Given the description of an element on the screen output the (x, y) to click on. 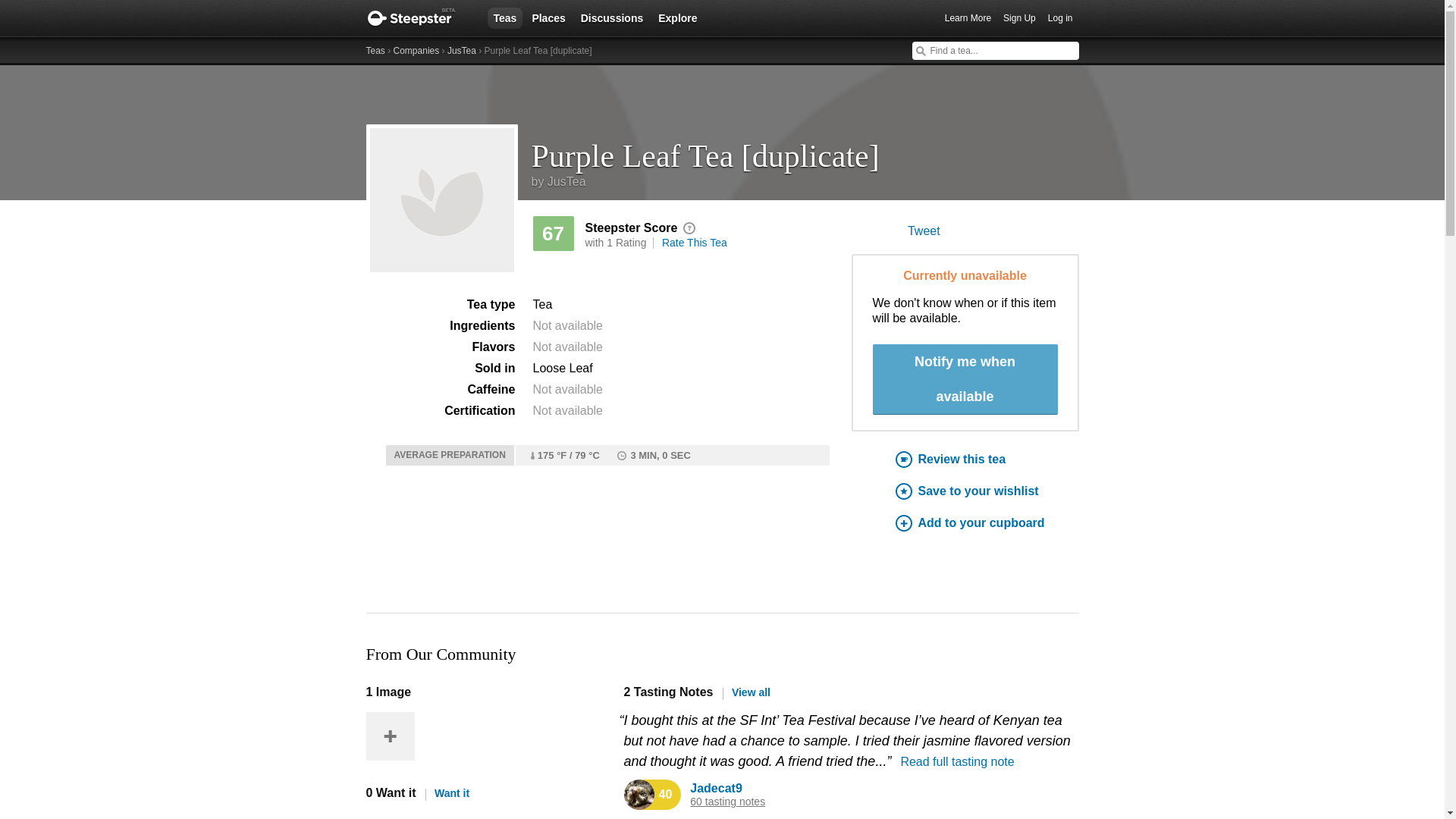
Want it (446, 793)
60 tasting notes (727, 801)
Save to your wishlist (986, 490)
Learn More (968, 18)
by JusTea (558, 181)
Explore (677, 17)
Log in (1060, 18)
Rate This Tea (694, 242)
Read full tasting note (956, 761)
Jadecat9 (716, 787)
Discussions (612, 17)
Review this tea (986, 458)
Teas (504, 17)
View all (746, 692)
Notify me when available (964, 378)
